Given the description of an element on the screen output the (x, y) to click on. 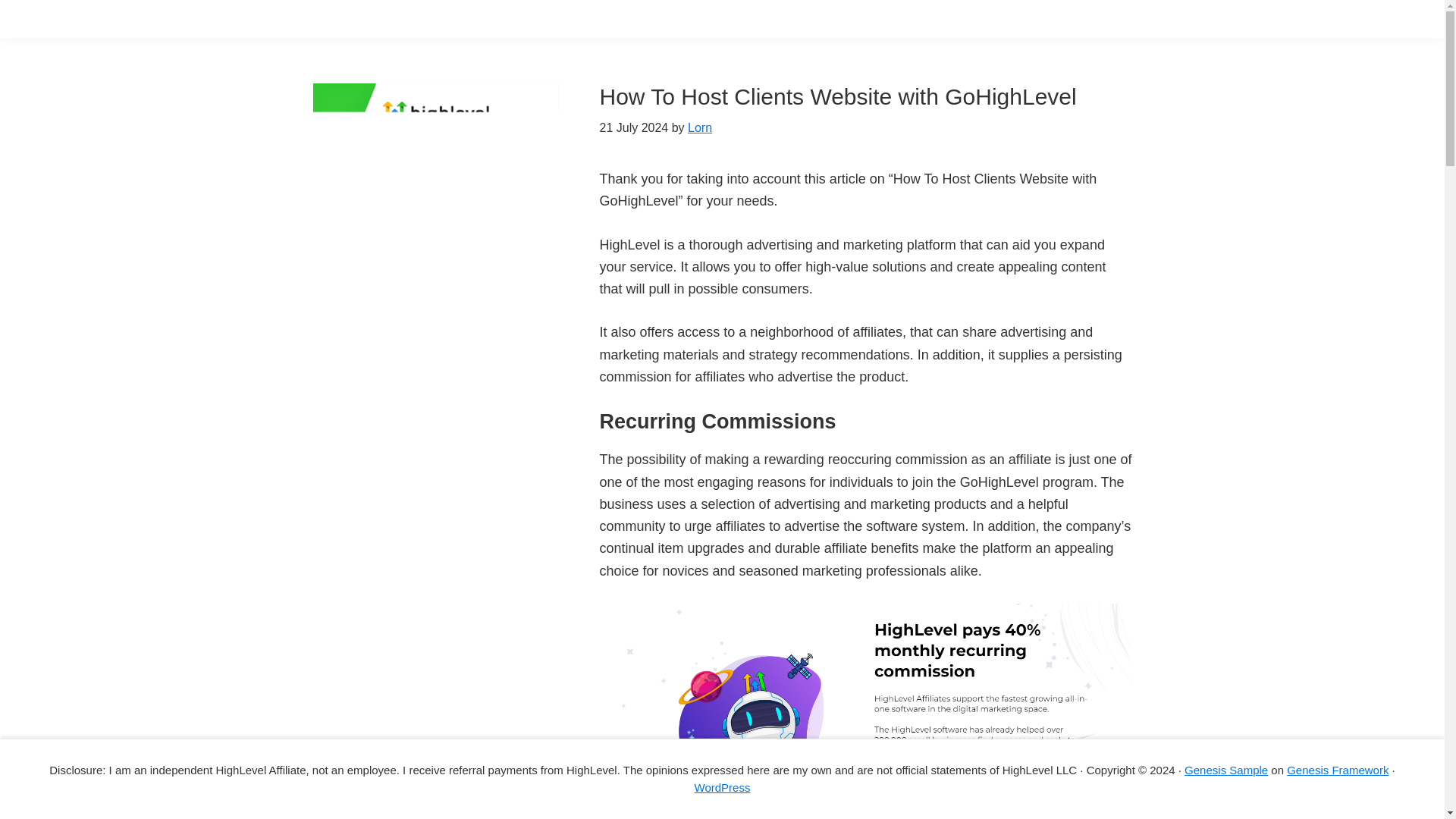
Genesis Framework (1338, 769)
Lorn (699, 127)
WordPress (722, 787)
Genesis Sample (1226, 769)
